Given the description of an element on the screen output the (x, y) to click on. 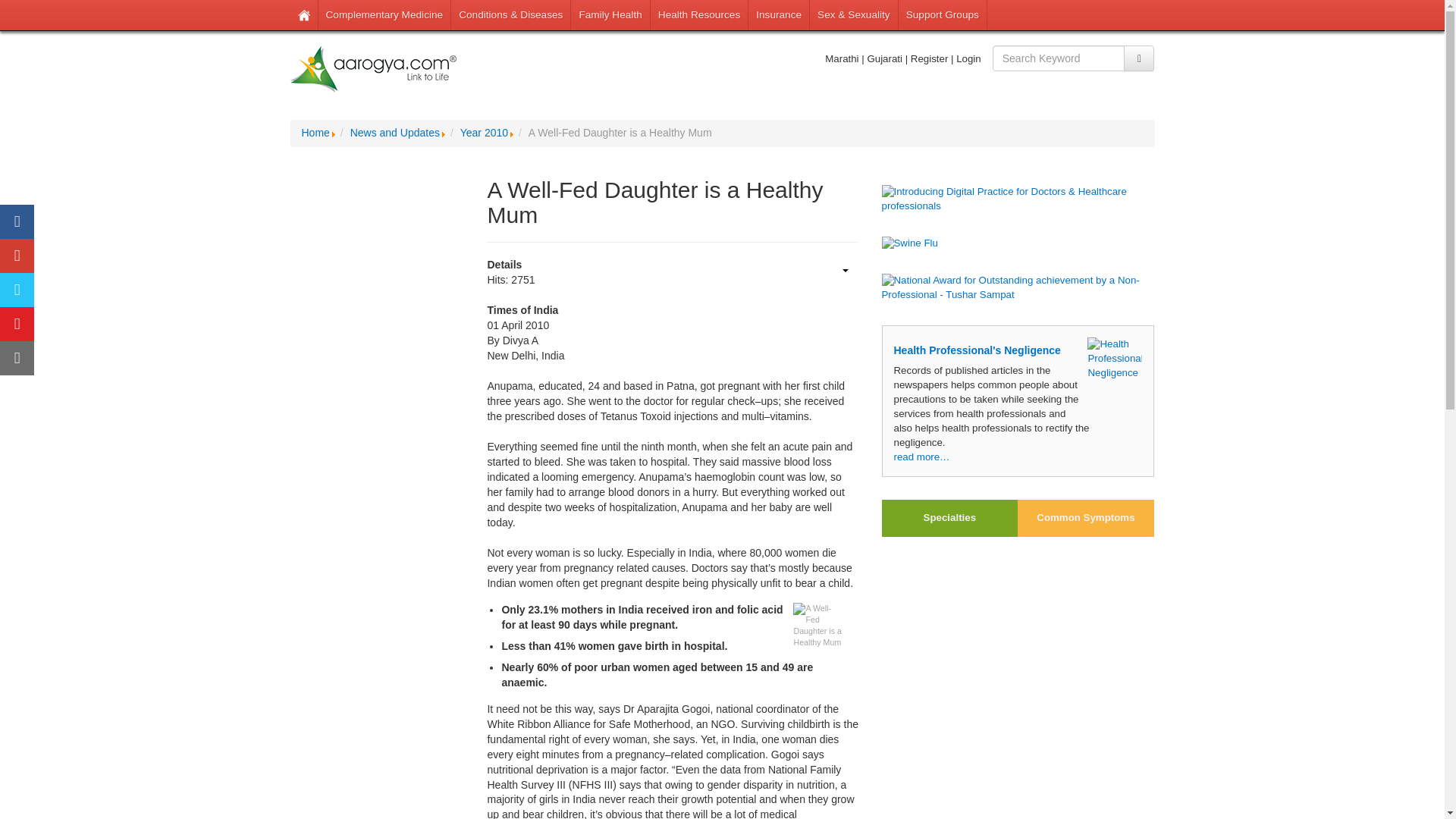
Advertisement (376, 729)
Advertisement (1017, 657)
Facebook (16, 221)
A Well-Fed Daughter is a Healthy Mum (818, 625)
Aarogya.com (373, 69)
Youtube (16, 324)
Twitter (16, 289)
Complementary Medicine (384, 15)
Swine Flu (1017, 243)
